Given the description of an element on the screen output the (x, y) to click on. 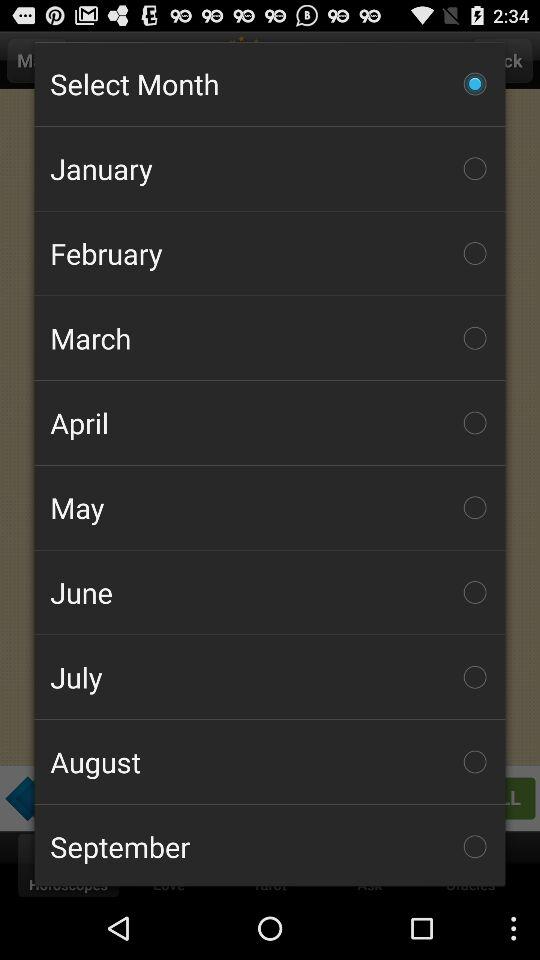
launch the icon below the march checkbox (269, 422)
